Given the description of an element on the screen output the (x, y) to click on. 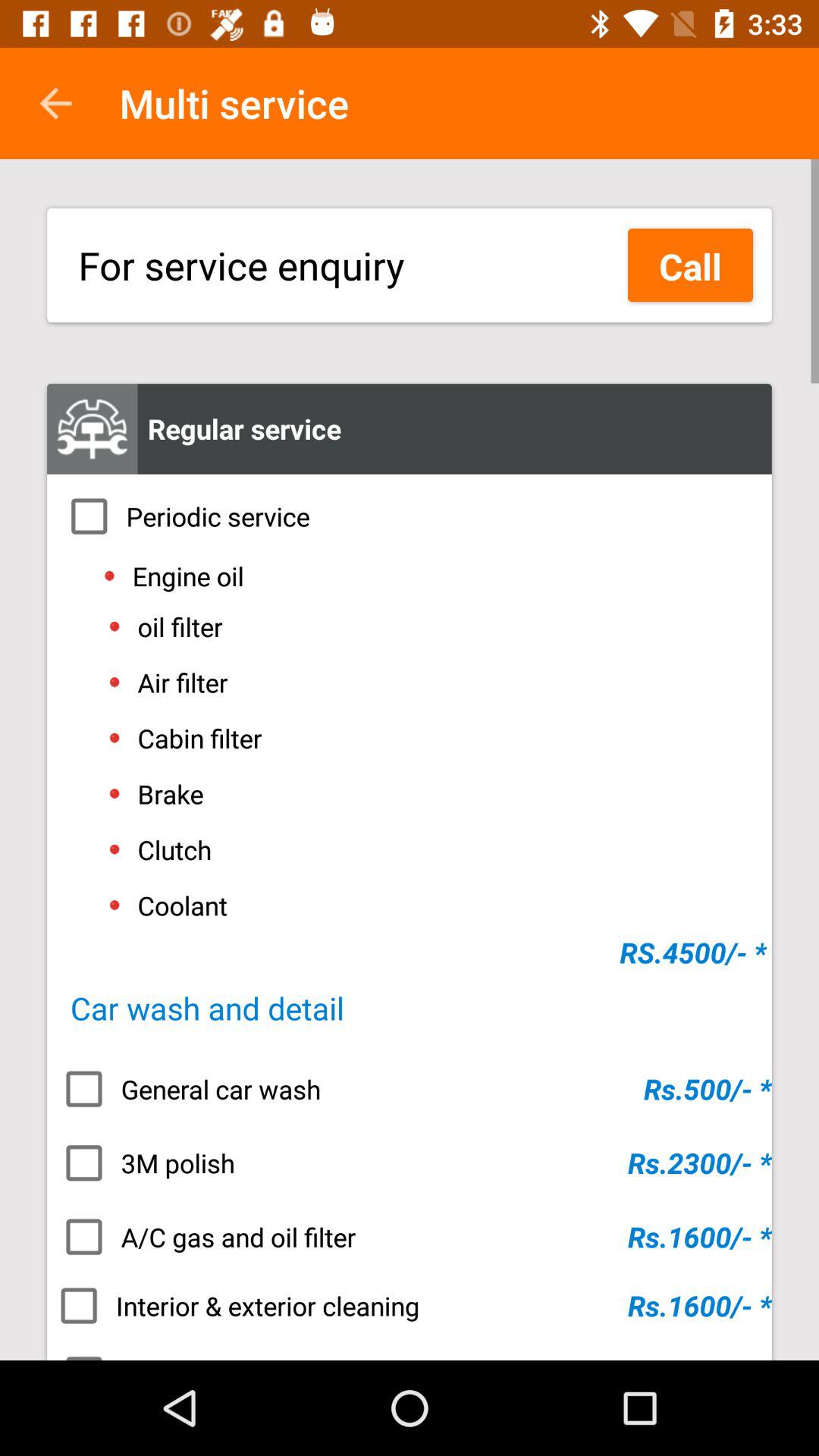
turn on interior & exterior cleaning icon (409, 1305)
